Given the description of an element on the screen output the (x, y) to click on. 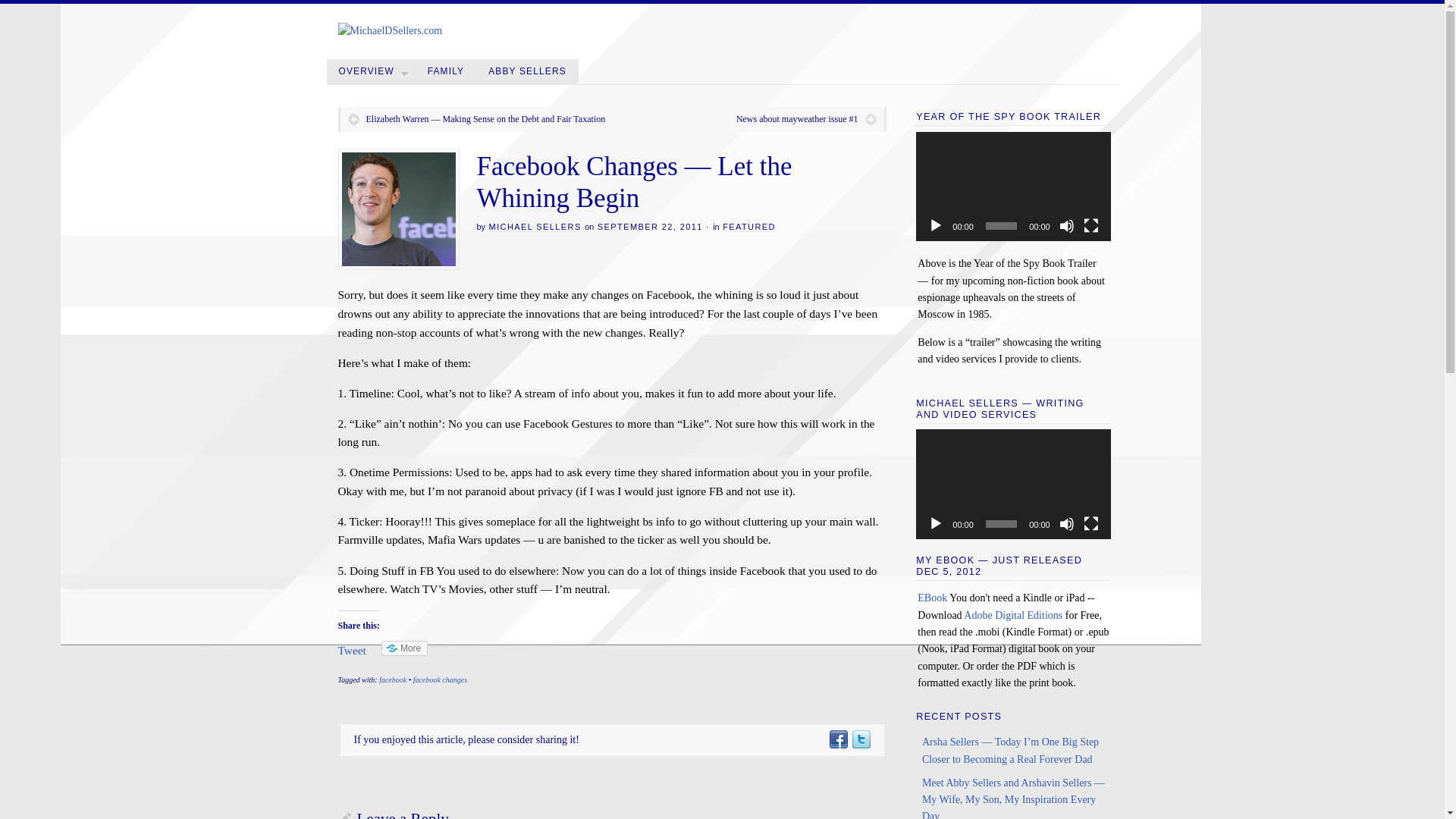
Share on Twitter (860, 739)
Adobe Digital Editions (1012, 614)
facebook (392, 679)
More (404, 648)
Play (935, 522)
Fullscreen (1091, 225)
Play (935, 225)
MichaelDSellers.com (389, 30)
2011-09-22T18:34:15-0700 (649, 225)
FAMILY (445, 71)
MICHAEL SELLERS (534, 226)
facebook changes (440, 679)
Posts by Michael Sellers (534, 226)
Mute (1066, 225)
ABBY SELLERS (527, 71)
